Given the description of an element on the screen output the (x, y) to click on. 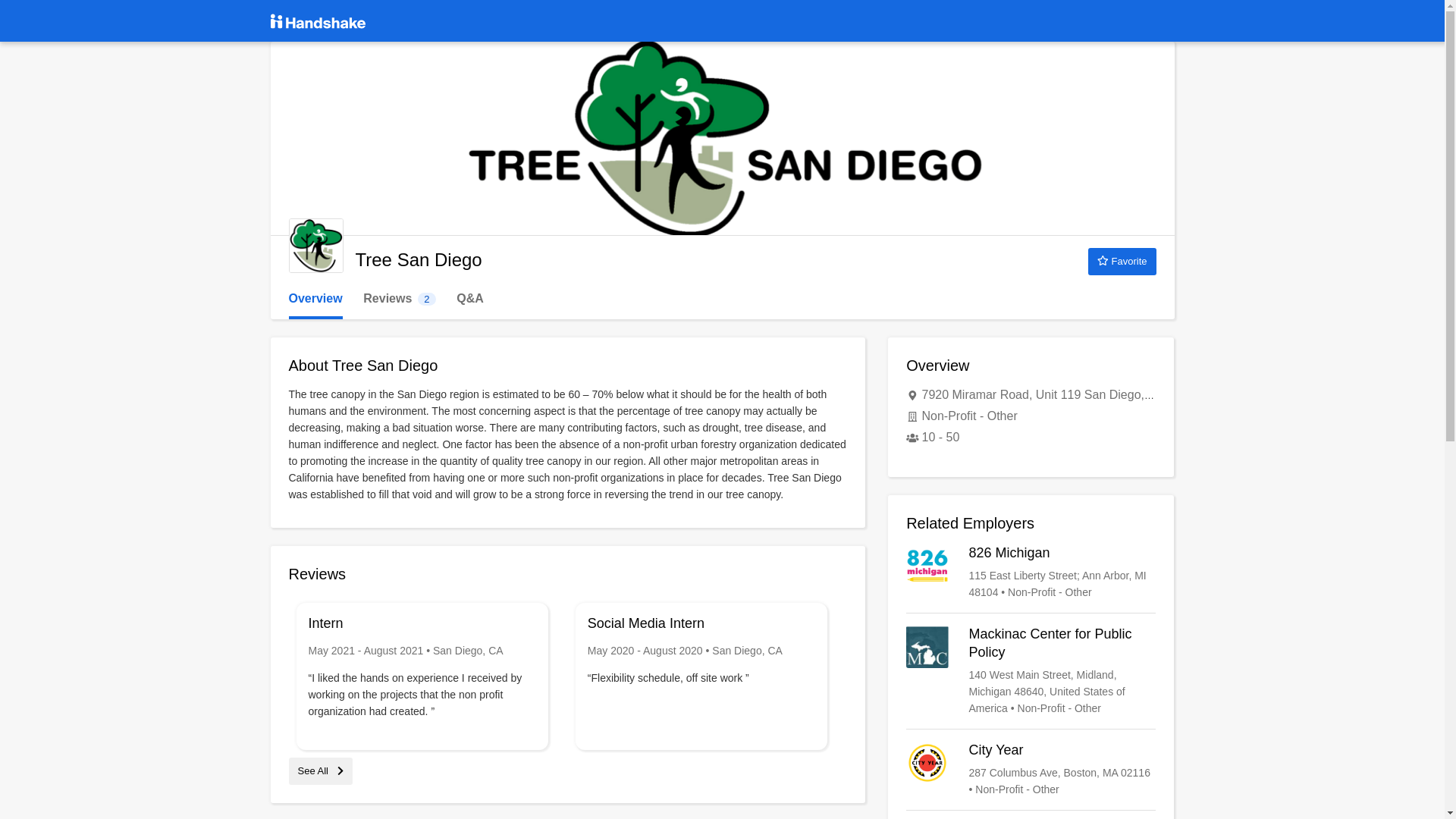
See All (320, 770)
City Year (1030, 769)
Mackinac Center for Public Policy (398, 298)
826 Michigan (1030, 670)
Overview (1030, 572)
Tree San Diego (315, 298)
Favorite (315, 245)
